Given the description of an element on the screen output the (x, y) to click on. 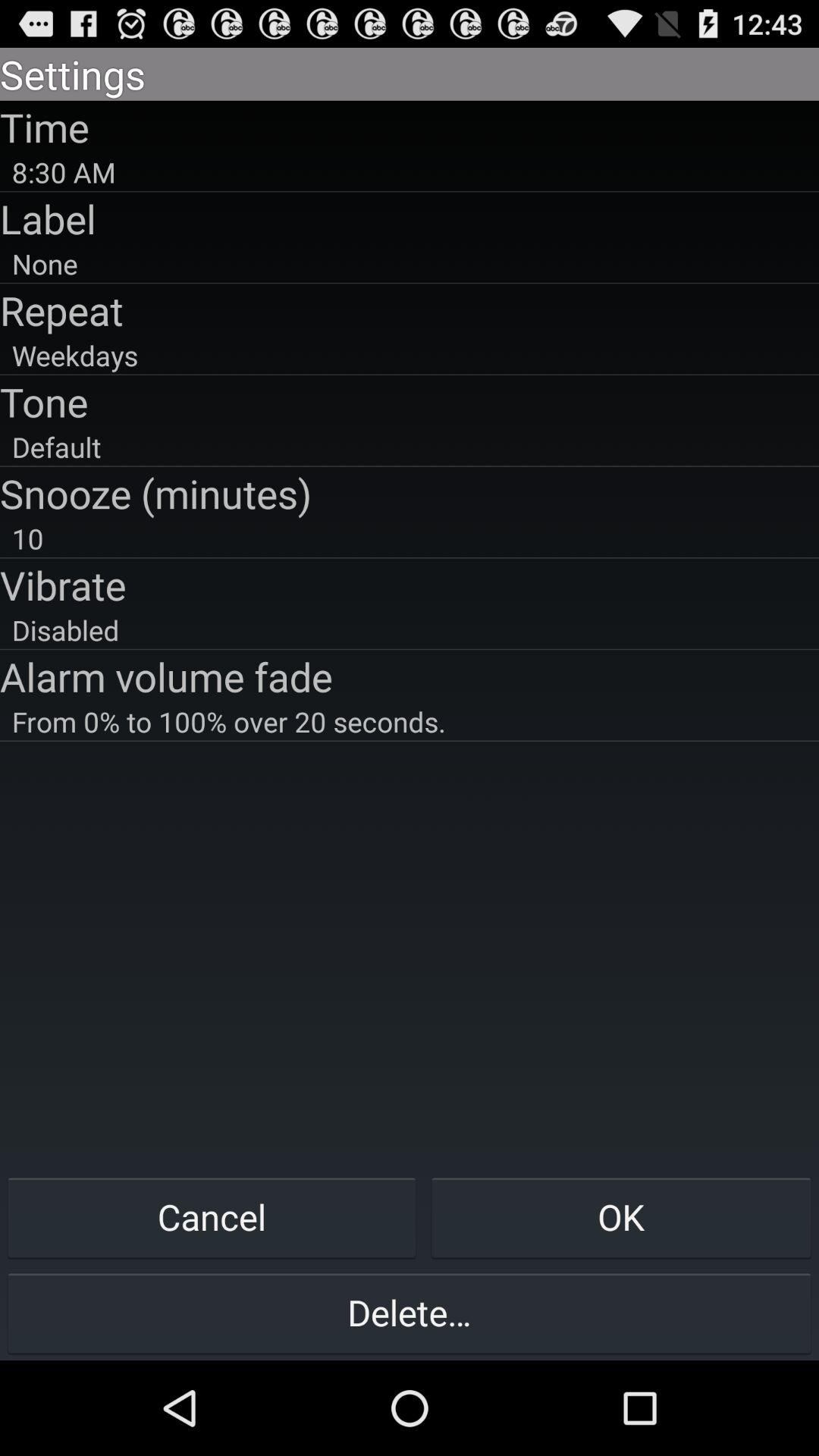
select the item below repeat app (409, 355)
